Given the description of an element on the screen output the (x, y) to click on. 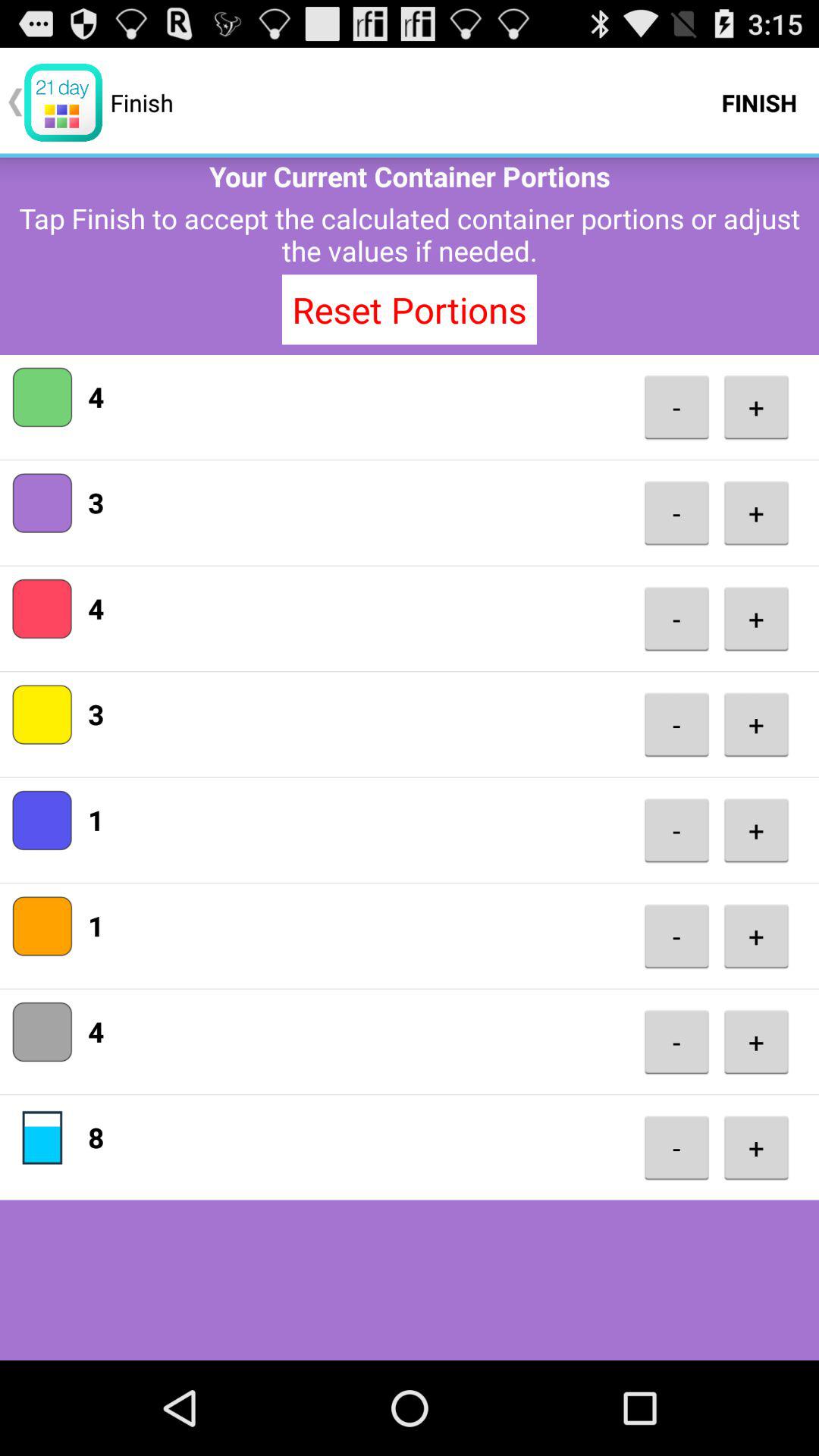
turn on - item (676, 1147)
